Given the description of an element on the screen output the (x, y) to click on. 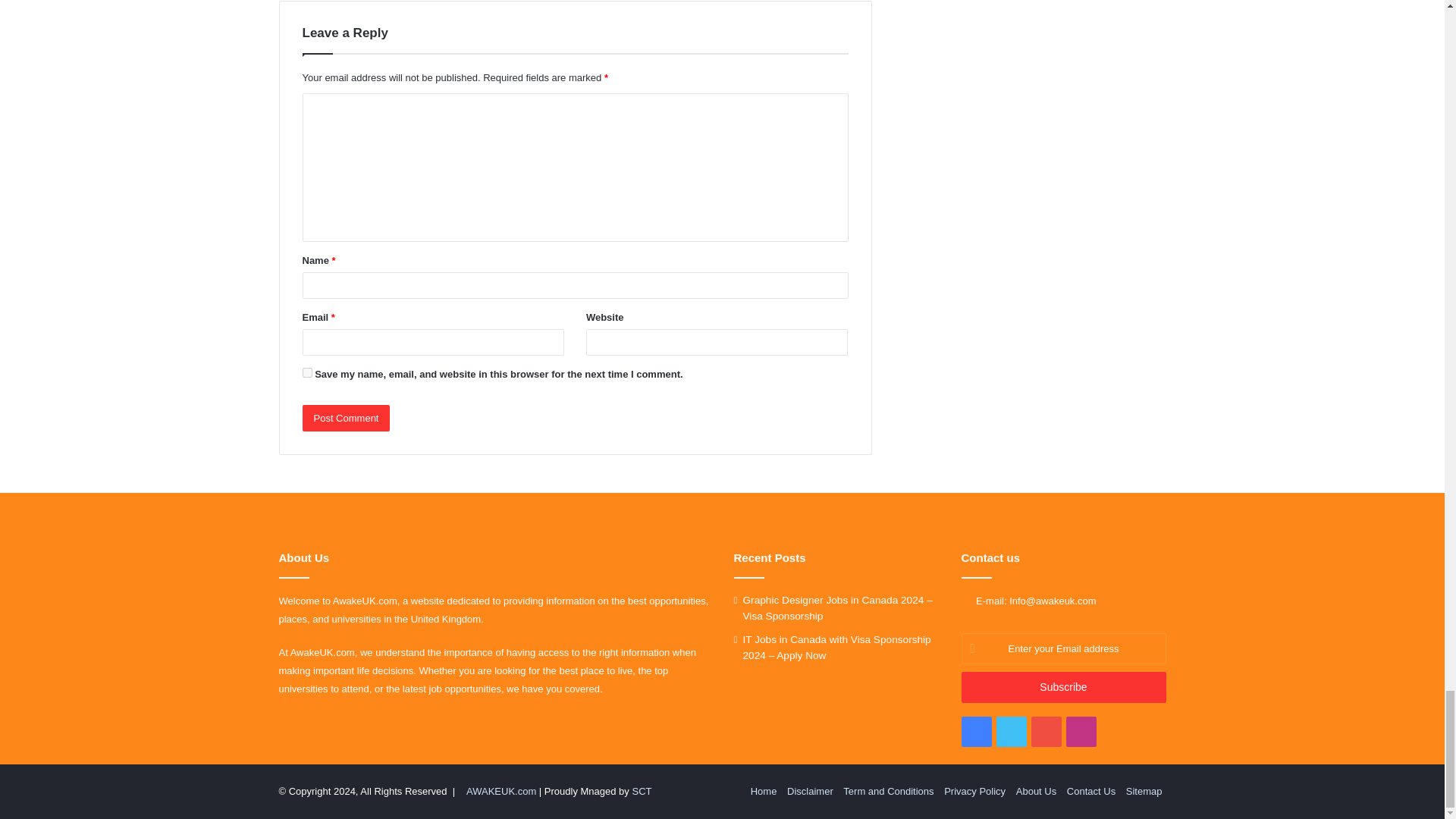
yes (306, 372)
Post Comment (345, 417)
Subscribe (1063, 686)
